Given the description of an element on the screen output the (x, y) to click on. 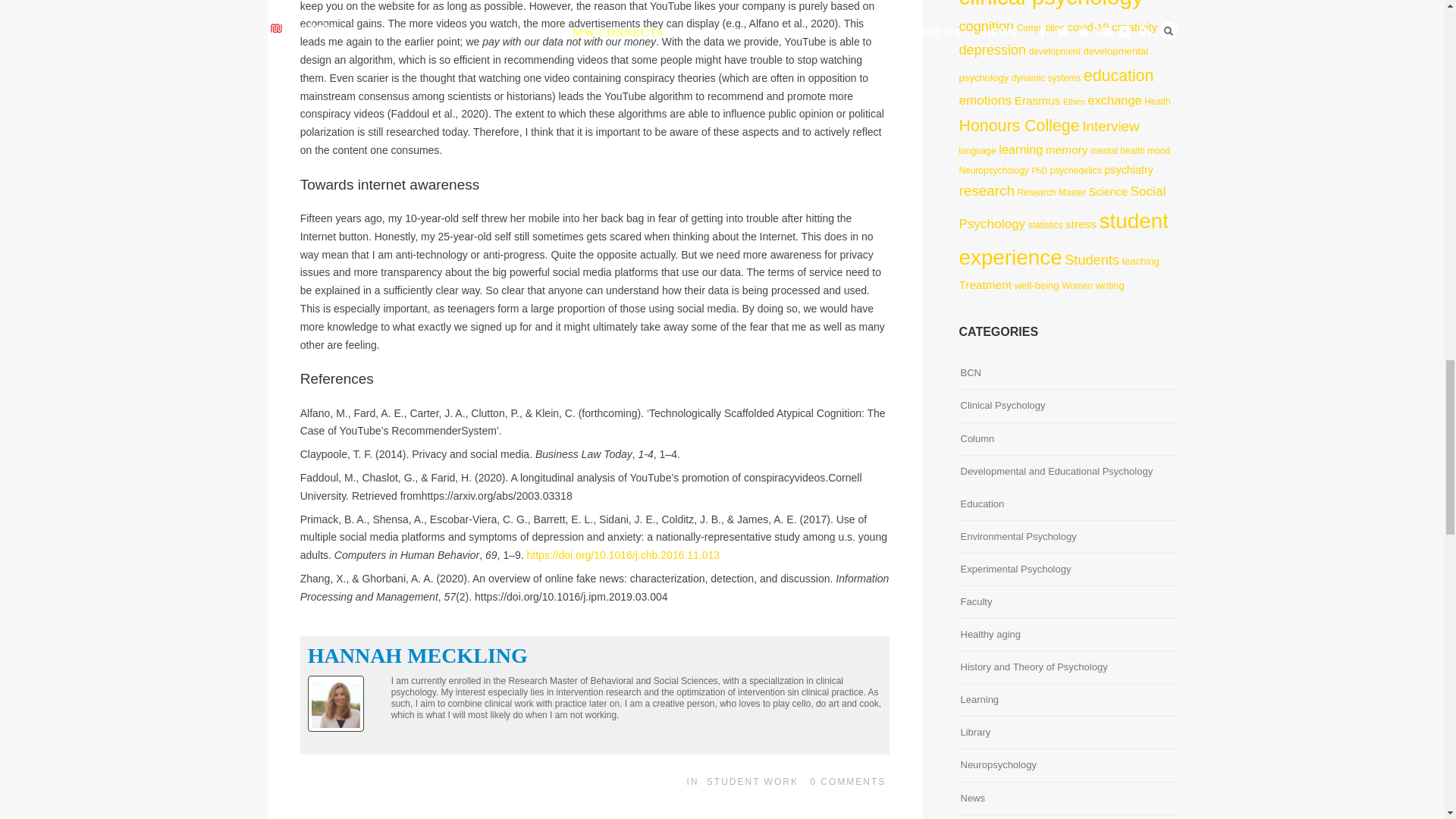
0 COMMENTS (847, 781)
HANNAH MECKLING (417, 655)
STUDENT WORK (751, 781)
Hannah Meckling (417, 655)
